Given the description of an element on the screen output the (x, y) to click on. 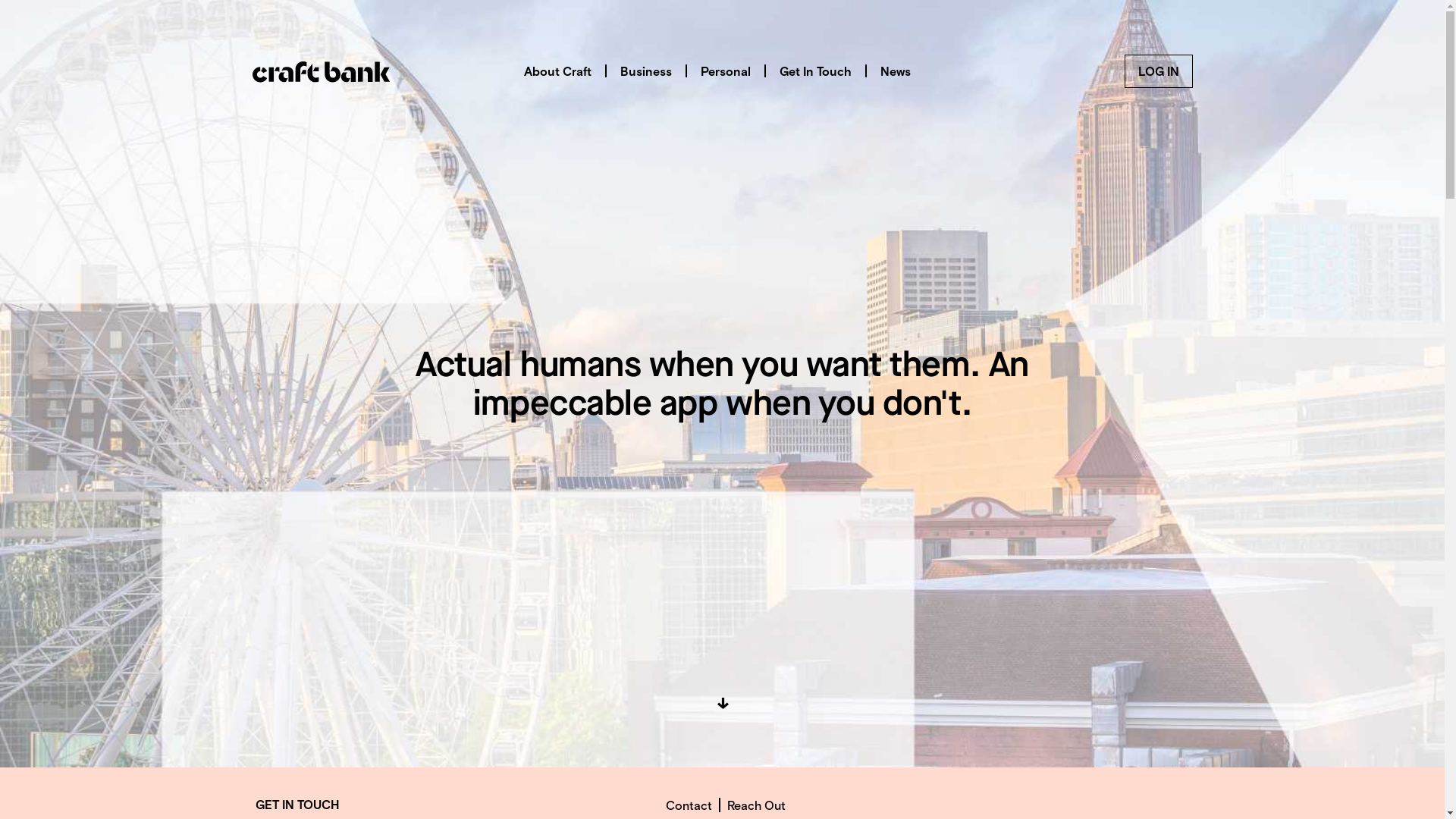
Reach Out Element type: text (756, 804)
Personal Element type: text (725, 70)
Contact Element type: text (688, 804)
See More Element type: text (721, 703)
LOG IN Element type: text (1157, 70)
Get In Touch Element type: text (815, 70)
Craft Bank, Atlanta, GA Element type: text (320, 71)
News Element type: text (894, 70)
Business Element type: text (645, 70)
About Craft Element type: text (556, 70)
